Given the description of an element on the screen output the (x, y) to click on. 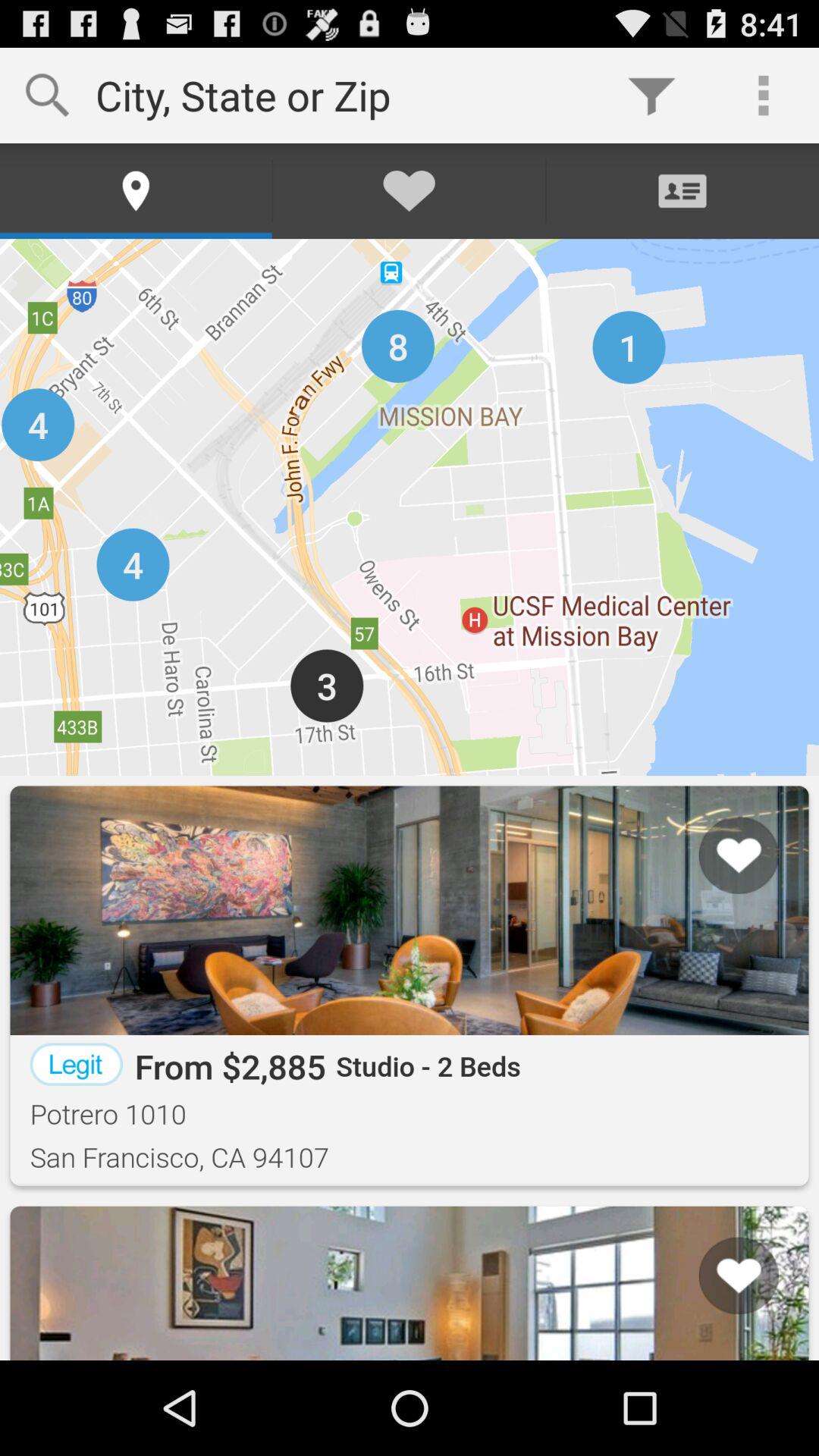
jump until list icon (719, 1302)
